Given the description of an element on the screen output the (x, y) to click on. 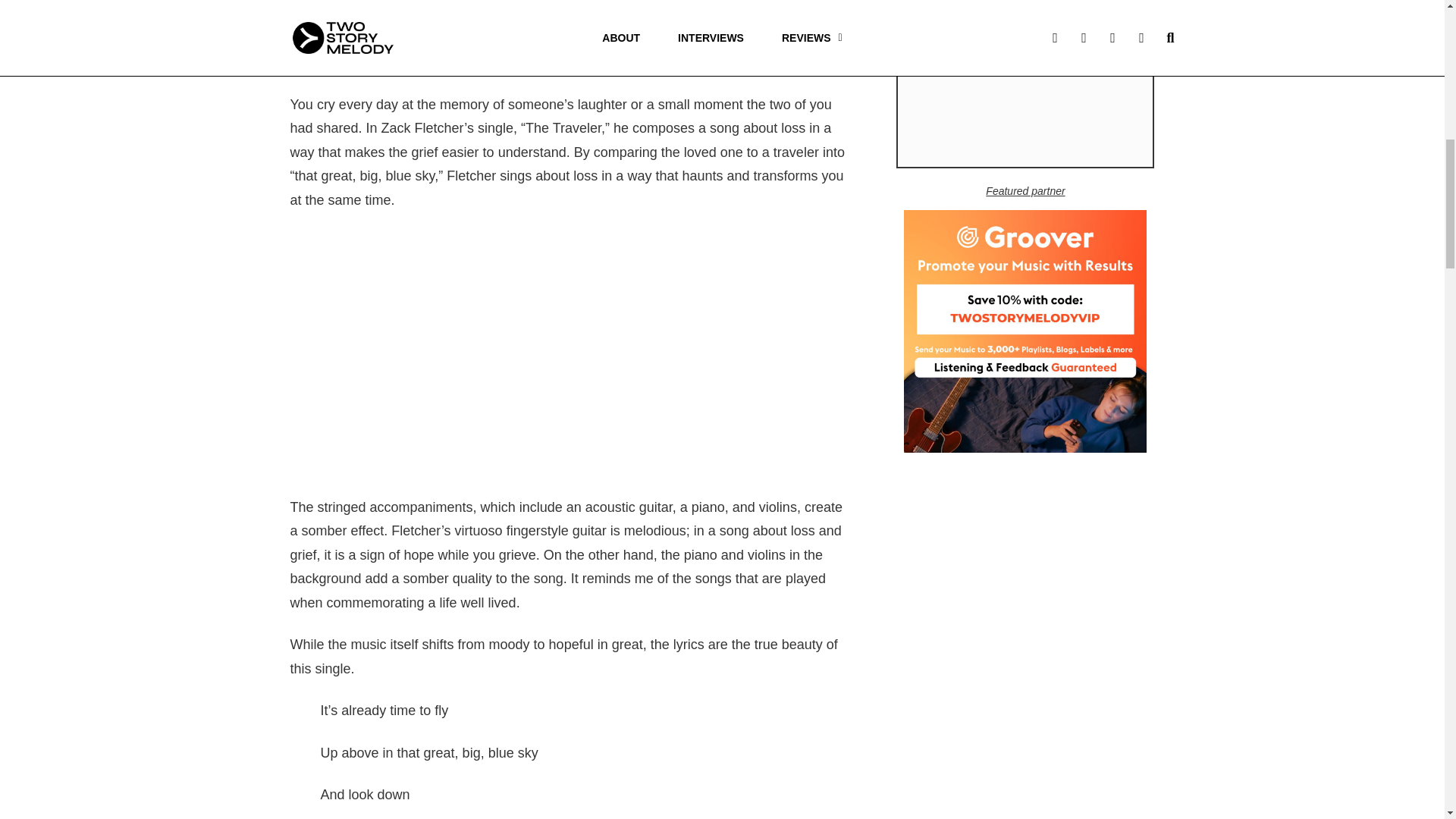
YouTube video player (569, 349)
